Given the description of an element on the screen output the (x, y) to click on. 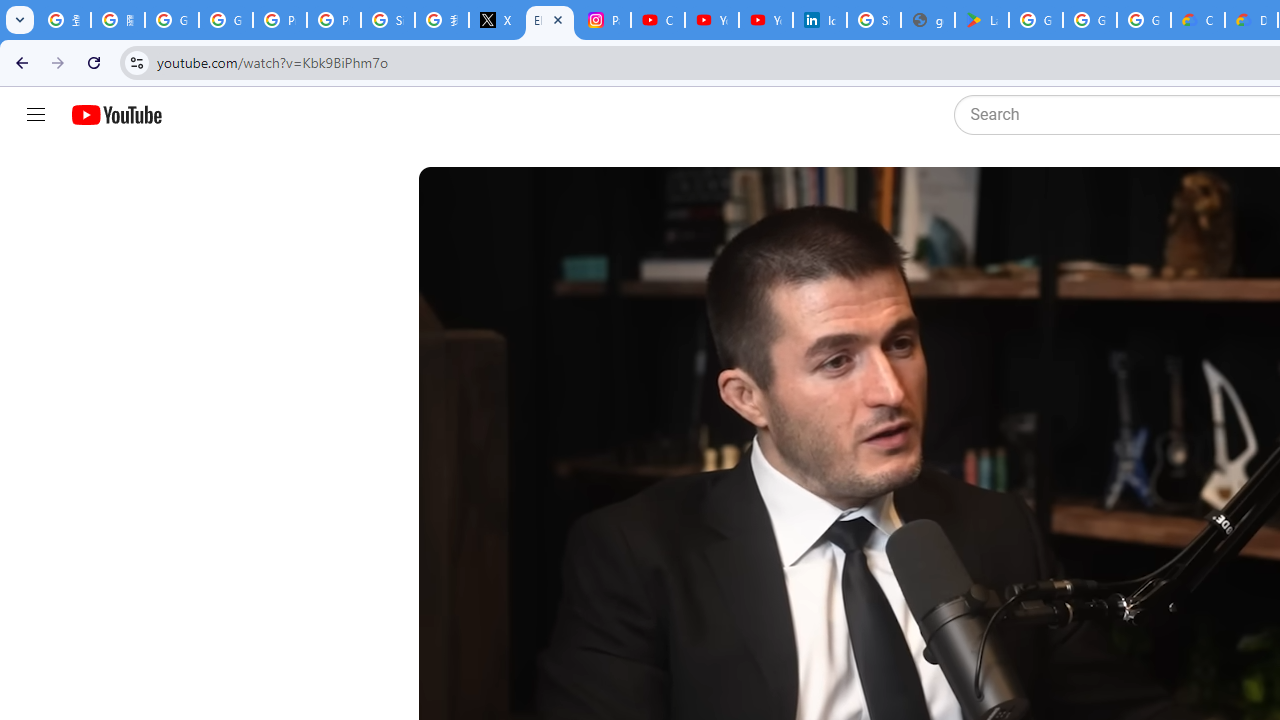
google_privacy_policy_en.pdf (927, 20)
Guide (35, 115)
Customer Care | Google Cloud (1197, 20)
Privacy Help Center - Policies Help (280, 20)
Privacy Help Center - Policies Help (333, 20)
